Given the description of an element on the screen output the (x, y) to click on. 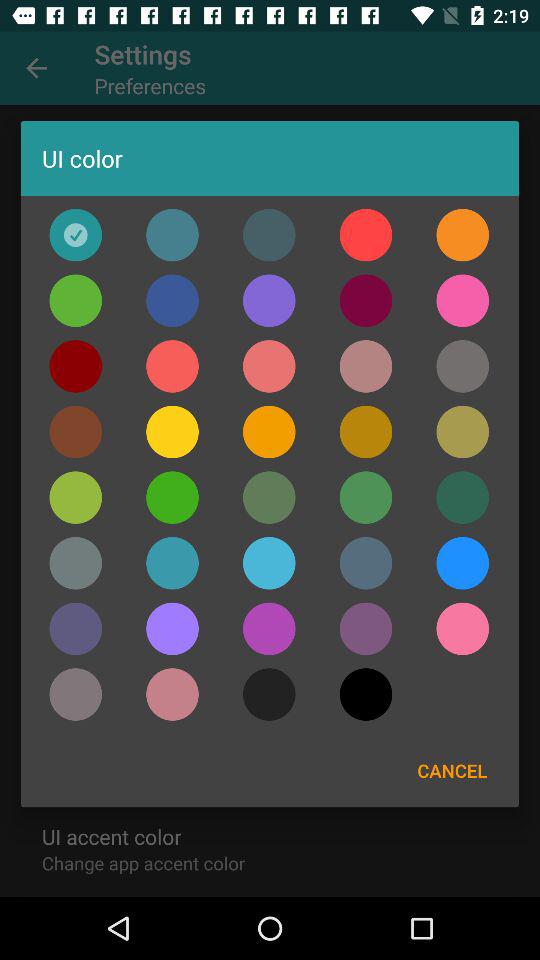
coloures (365, 563)
